Given the description of an element on the screen output the (x, y) to click on. 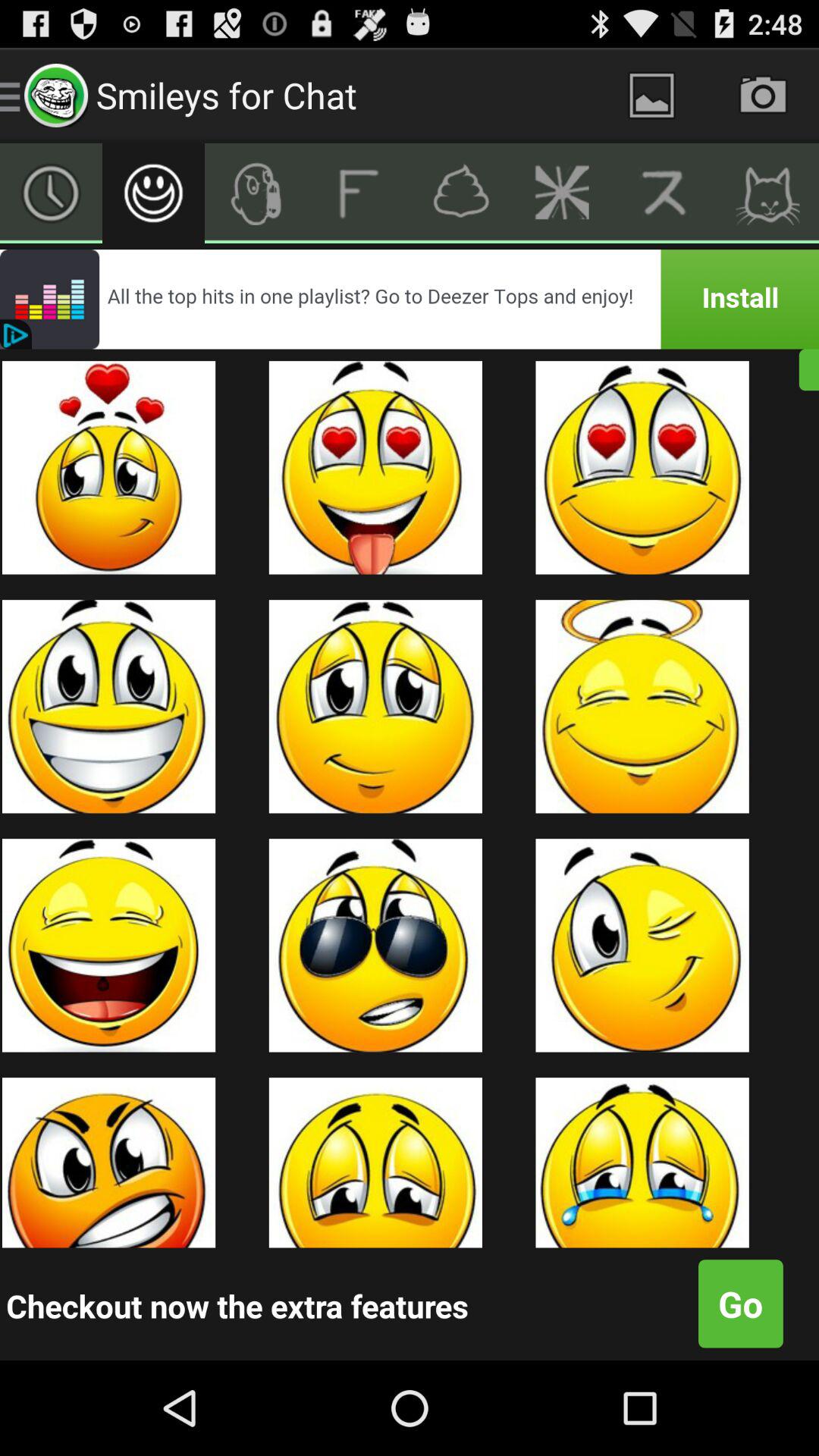
share the article options (562, 193)
